Given the description of an element on the screen output the (x, y) to click on. 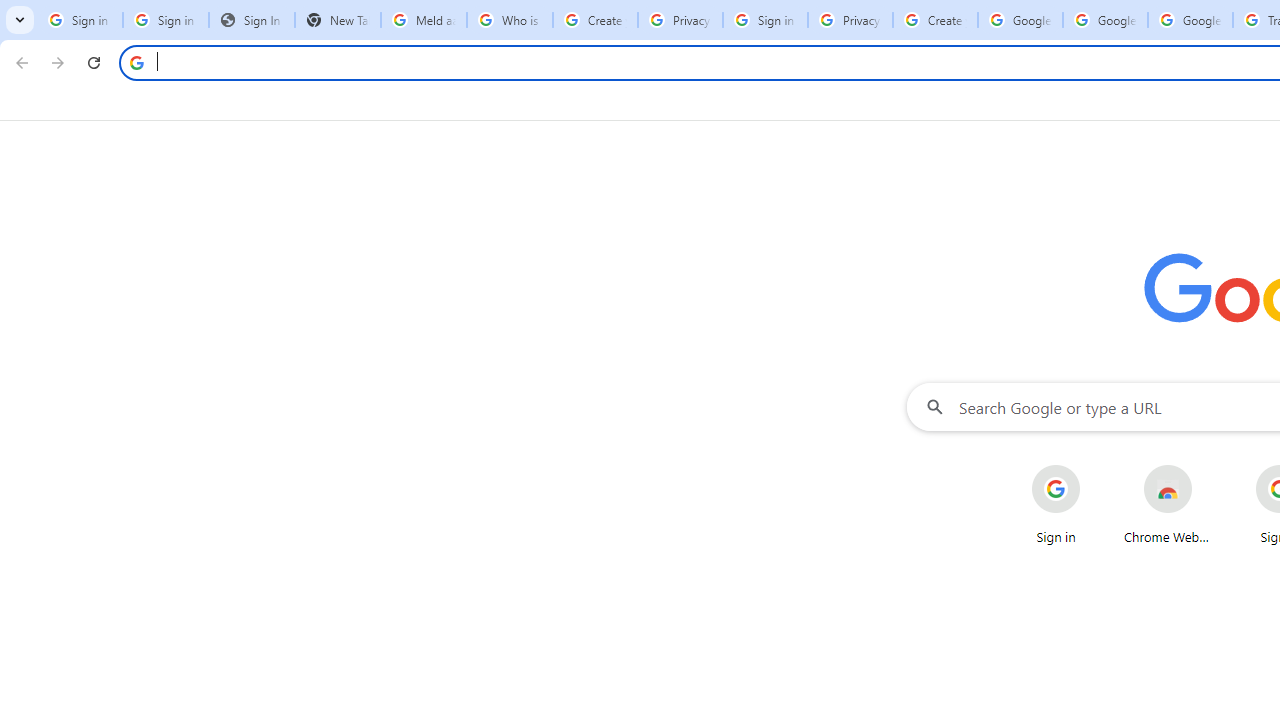
Google Account (1190, 20)
Sign in - Google Accounts (79, 20)
Sign In - USA TODAY (251, 20)
Search icon (136, 62)
Forward (57, 62)
Sign in - Google Accounts (765, 20)
New Tab (337, 20)
Sign in (1055, 504)
Create your Google Account (935, 20)
More actions for Chrome Web Store shortcut (1208, 466)
Create your Google Account (595, 20)
